Given the description of an element on the screen output the (x, y) to click on. 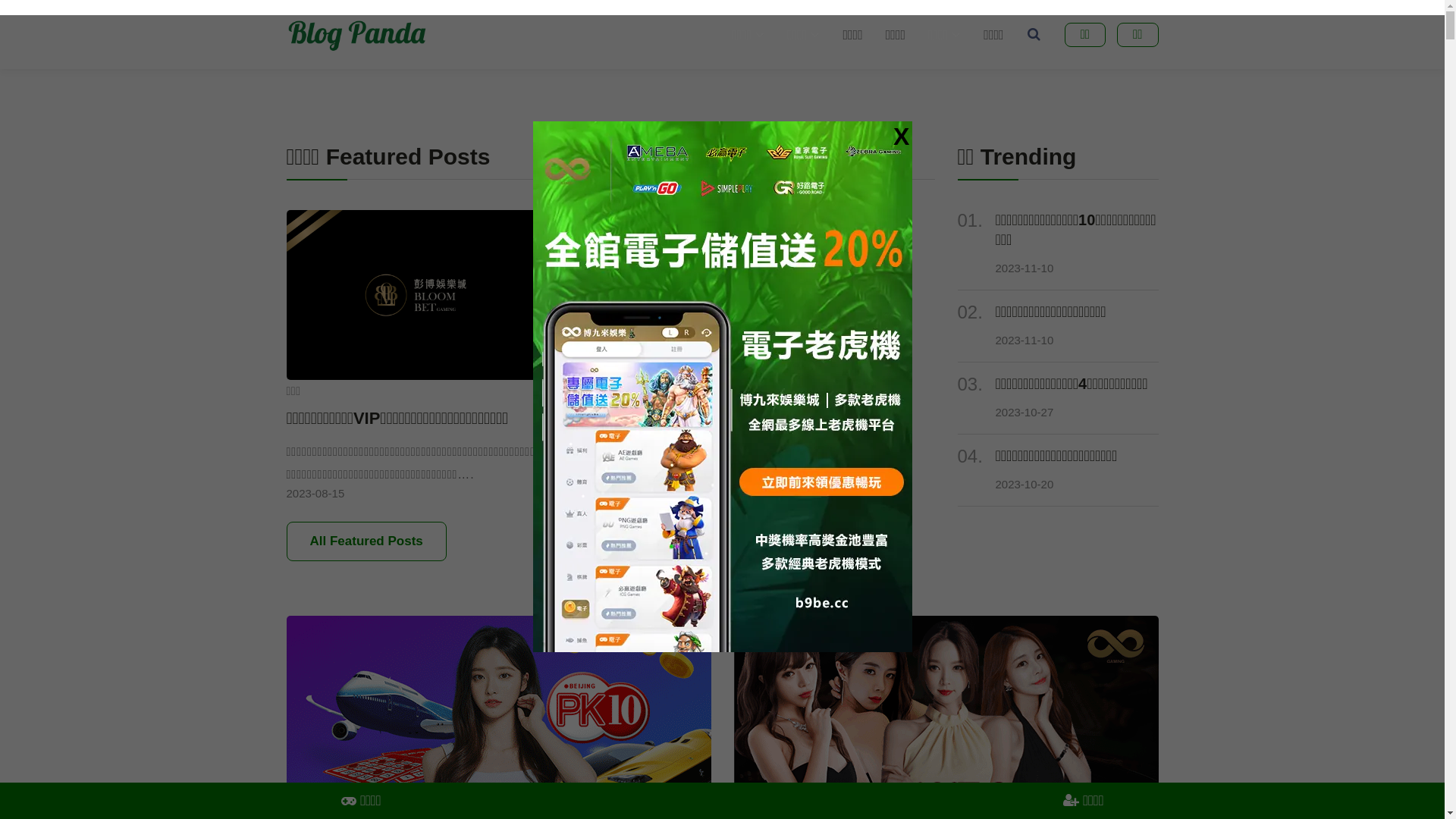
search Element type: hover (1033, 34)
X Element type: text (900, 136)
All Featured Posts Element type: text (366, 541)
